Given the description of an element on the screen output the (x, y) to click on. 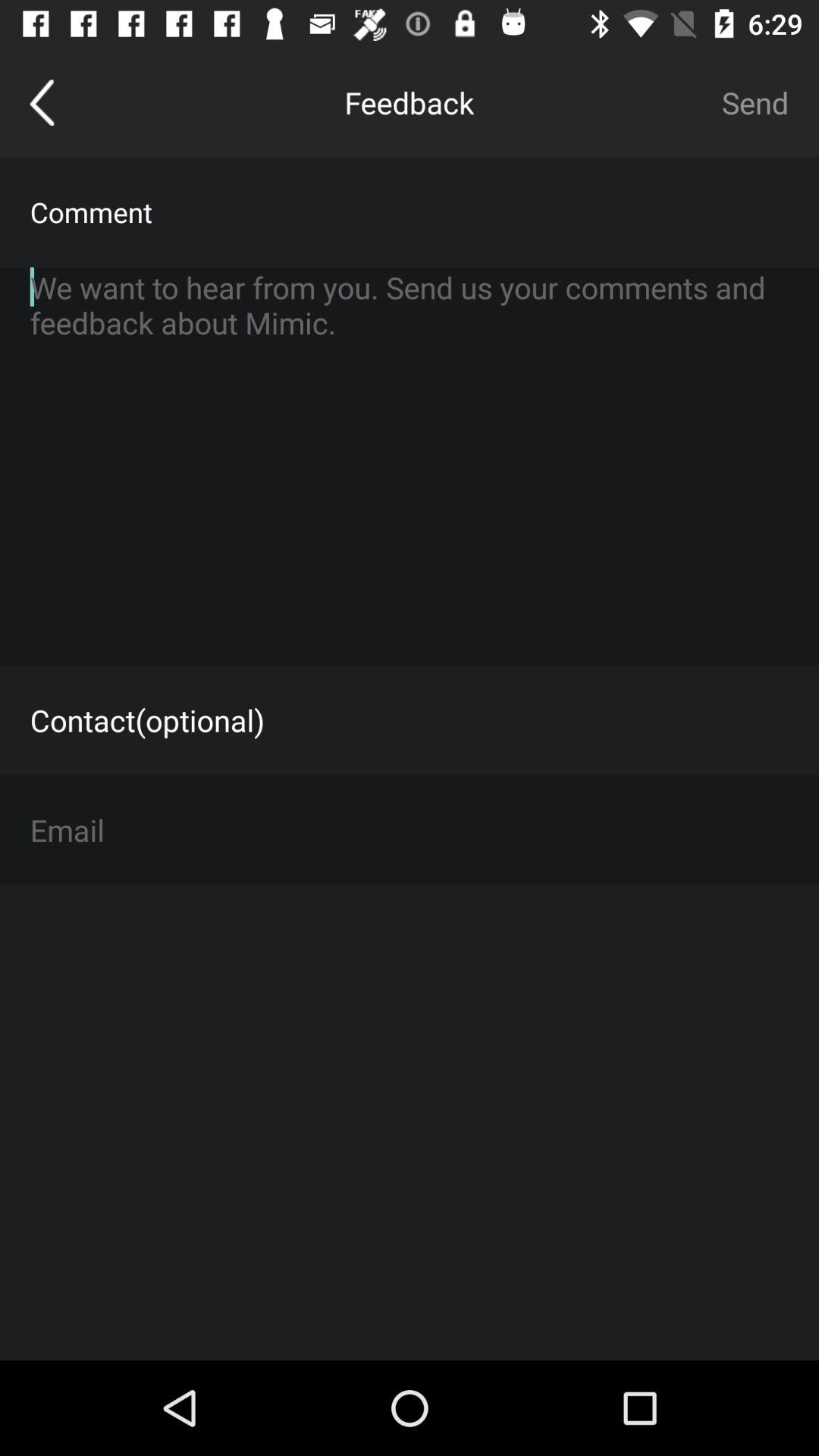
type comments in text box (409, 466)
